Given the description of an element on the screen output the (x, y) to click on. 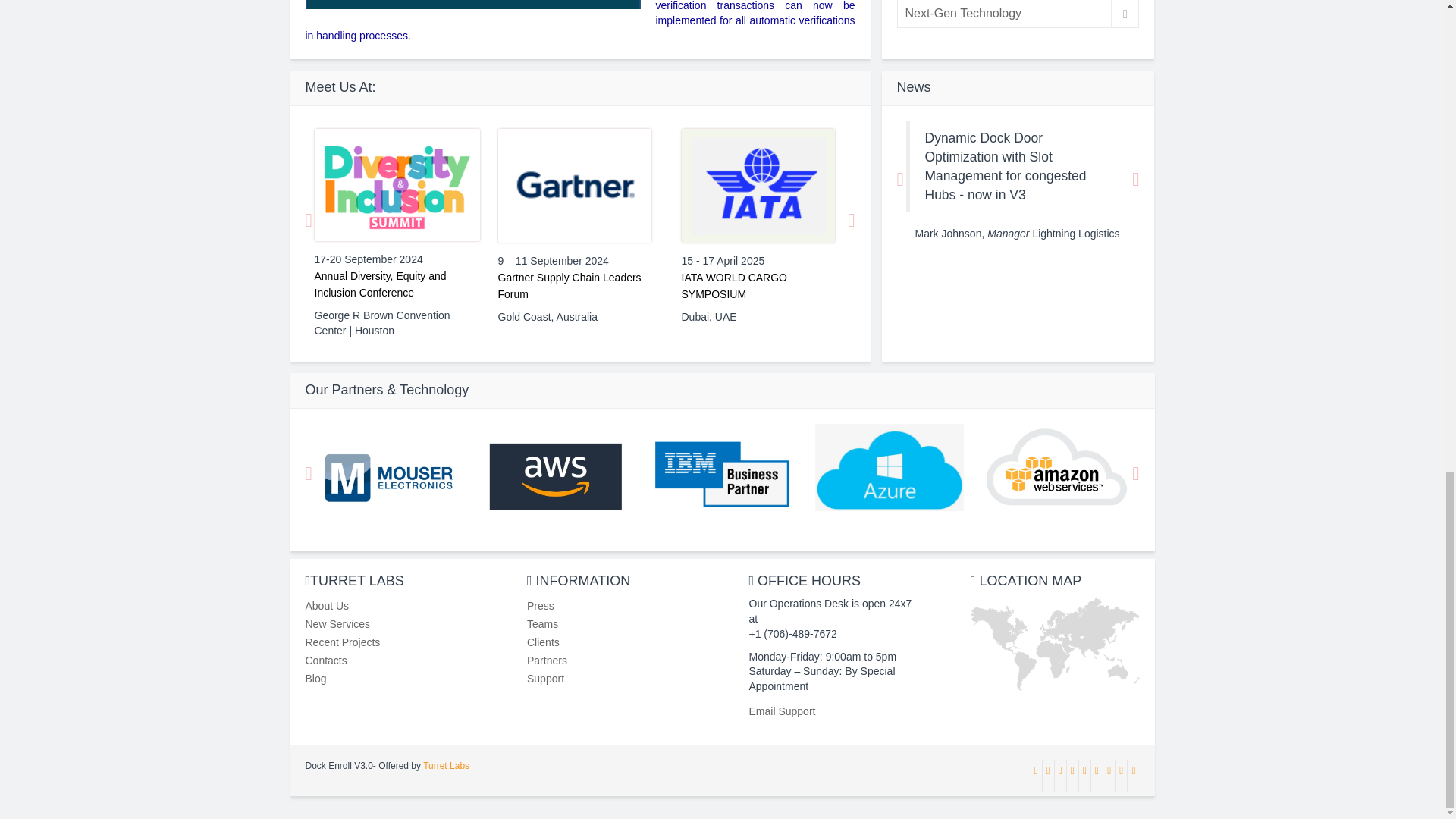
About Us (326, 605)
About Us (540, 605)
